Given the description of an element on the screen output the (x, y) to click on. 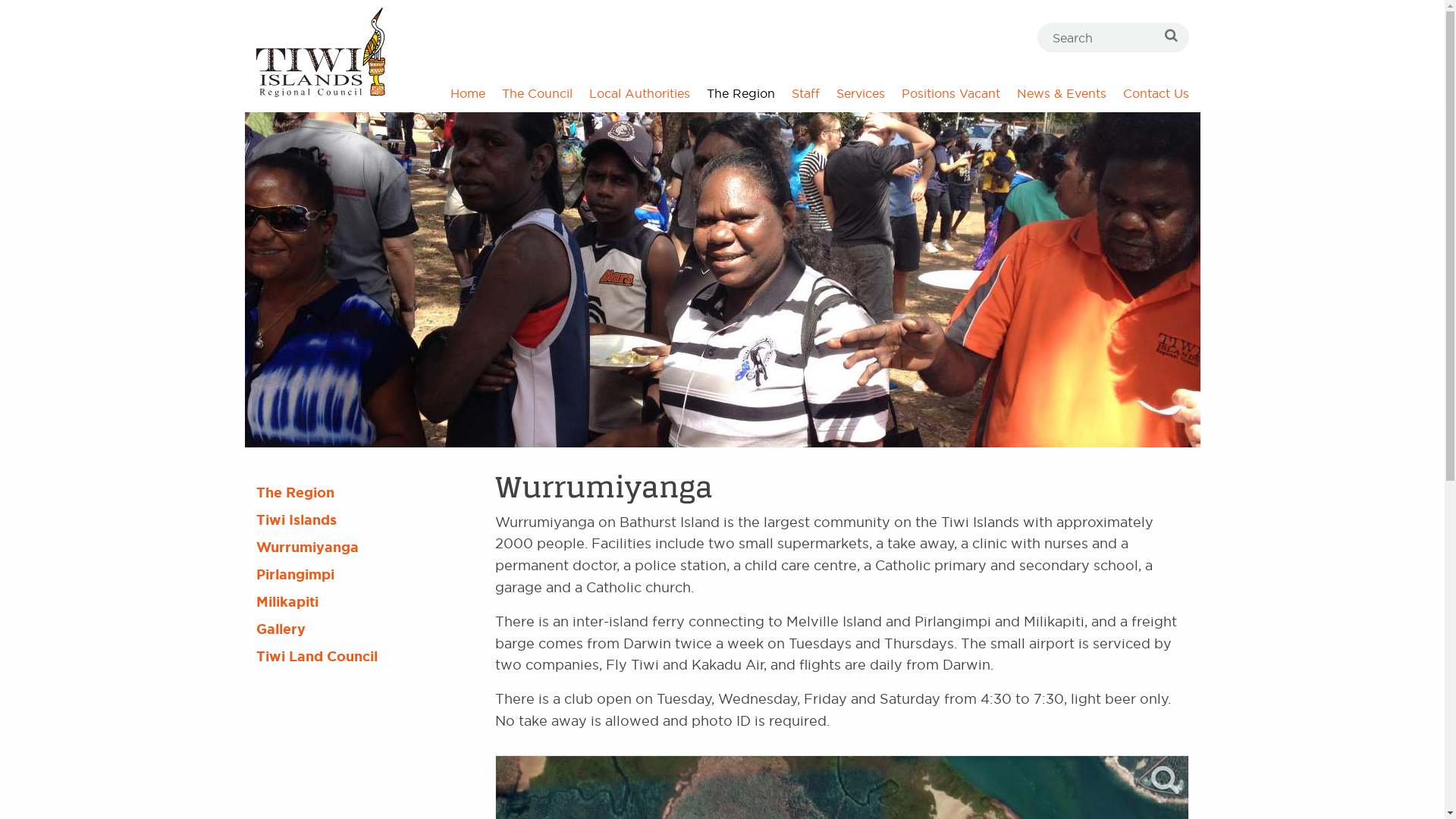
Staff Element type: text (804, 93)
Magnify Element type: text (1164, 779)
Contact Us Element type: text (1151, 93)
Tiwi Land Council Element type: text (363, 656)
Home Element type: text (466, 93)
Tiwi Islands Element type: text (363, 519)
Services Element type: text (860, 93)
Gallery Element type: text (363, 629)
The Region Element type: text (363, 492)
Milikapiti Element type: text (363, 601)
The Region Element type: text (739, 93)
Positions Vacant Element type: text (950, 93)
News & Events Element type: text (1061, 93)
Wurrumiyanga Element type: text (363, 547)
The Council Element type: text (536, 93)
Local Authorities Element type: text (639, 93)
Pirlangimpi Element type: text (363, 574)
